Given the description of an element on the screen output the (x, y) to click on. 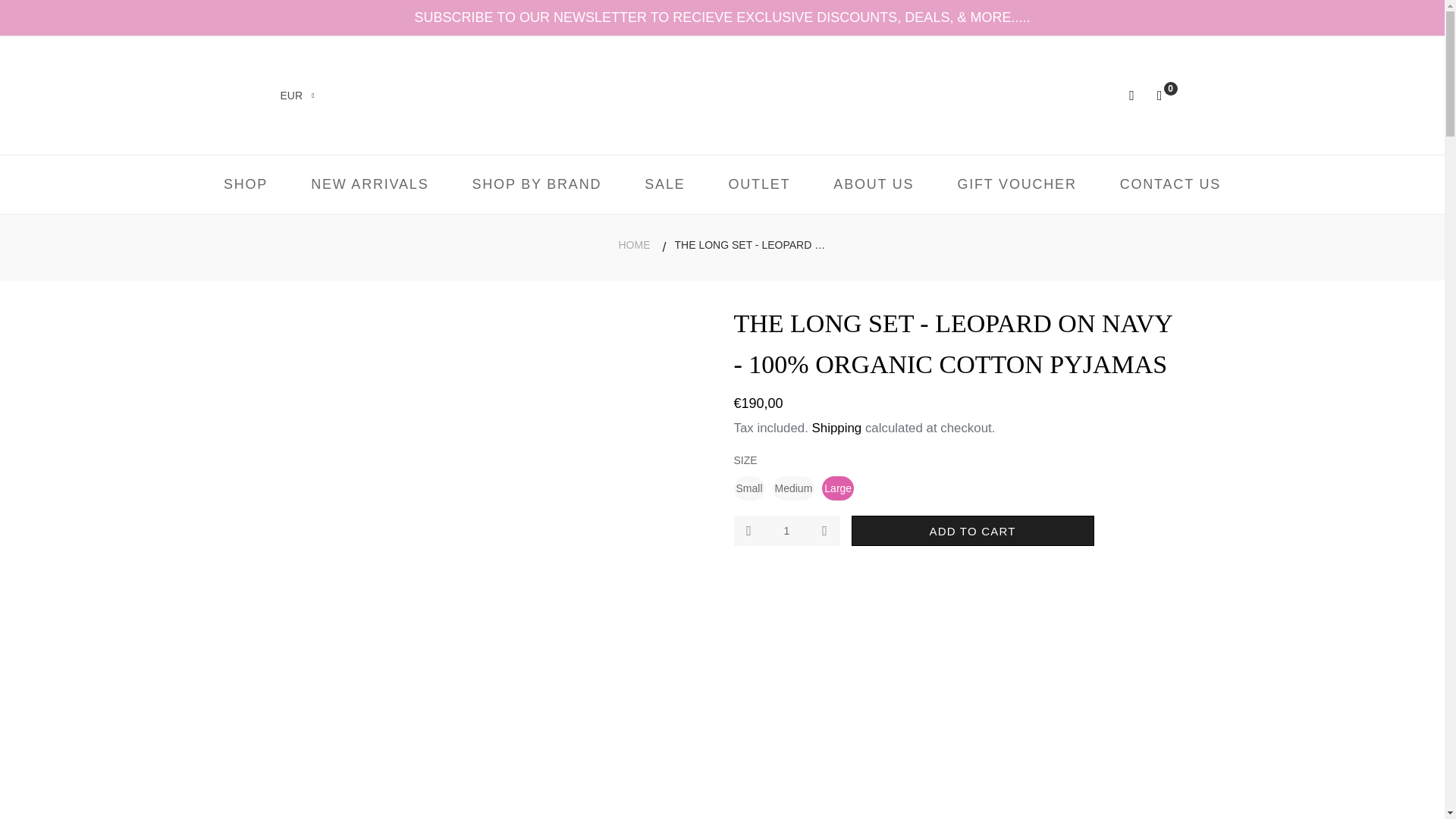
1 (786, 530)
Home (633, 245)
